Given the description of an element on the screen output the (x, y) to click on. 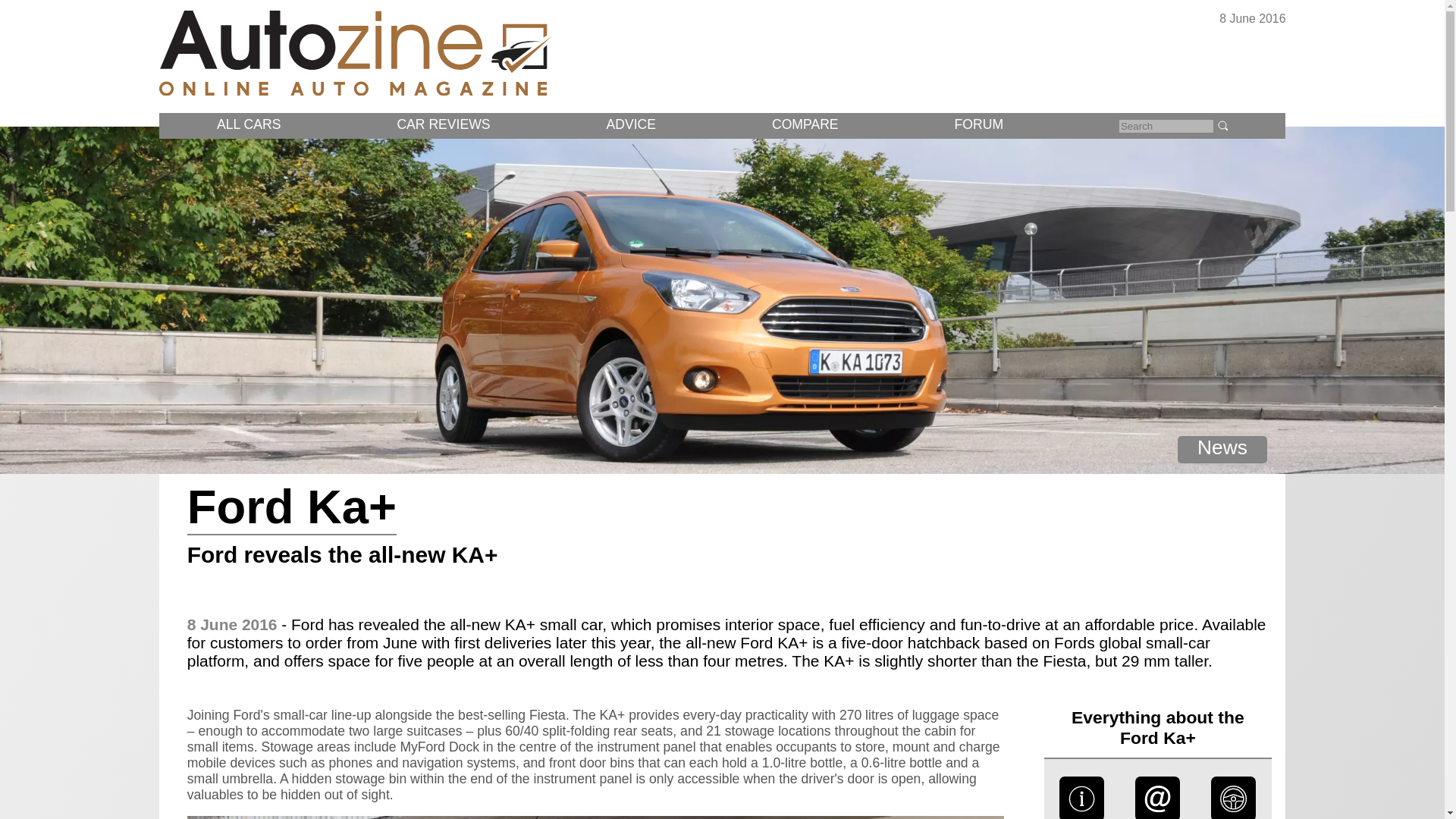
Search (1222, 124)
ALL CARS (248, 124)
Mail a friend (1157, 814)
